Given the description of an element on the screen output the (x, y) to click on. 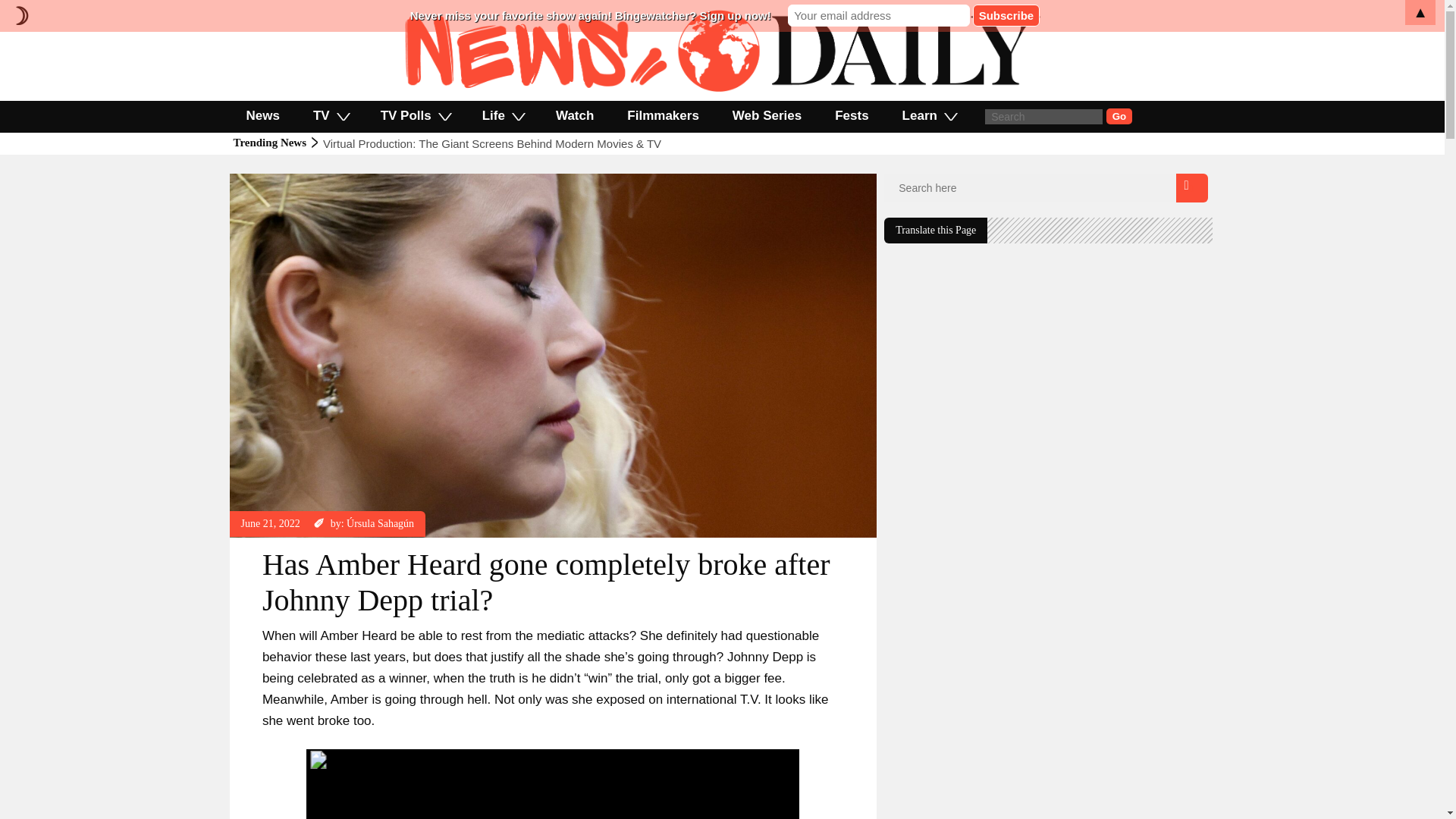
Fests (851, 115)
News (253, 180)
Filmmakers (663, 115)
Web Series (767, 115)
Life (501, 115)
TV (330, 115)
Go (1119, 116)
June 21, 2022 (270, 523)
Go (1119, 116)
Learn (928, 115)
Subscribe (1006, 15)
Go (1119, 116)
Flight of Fancy: Early Aviation on the Silver Screen (450, 143)
News (261, 115)
TV Polls (414, 115)
